Given the description of an element on the screen output the (x, y) to click on. 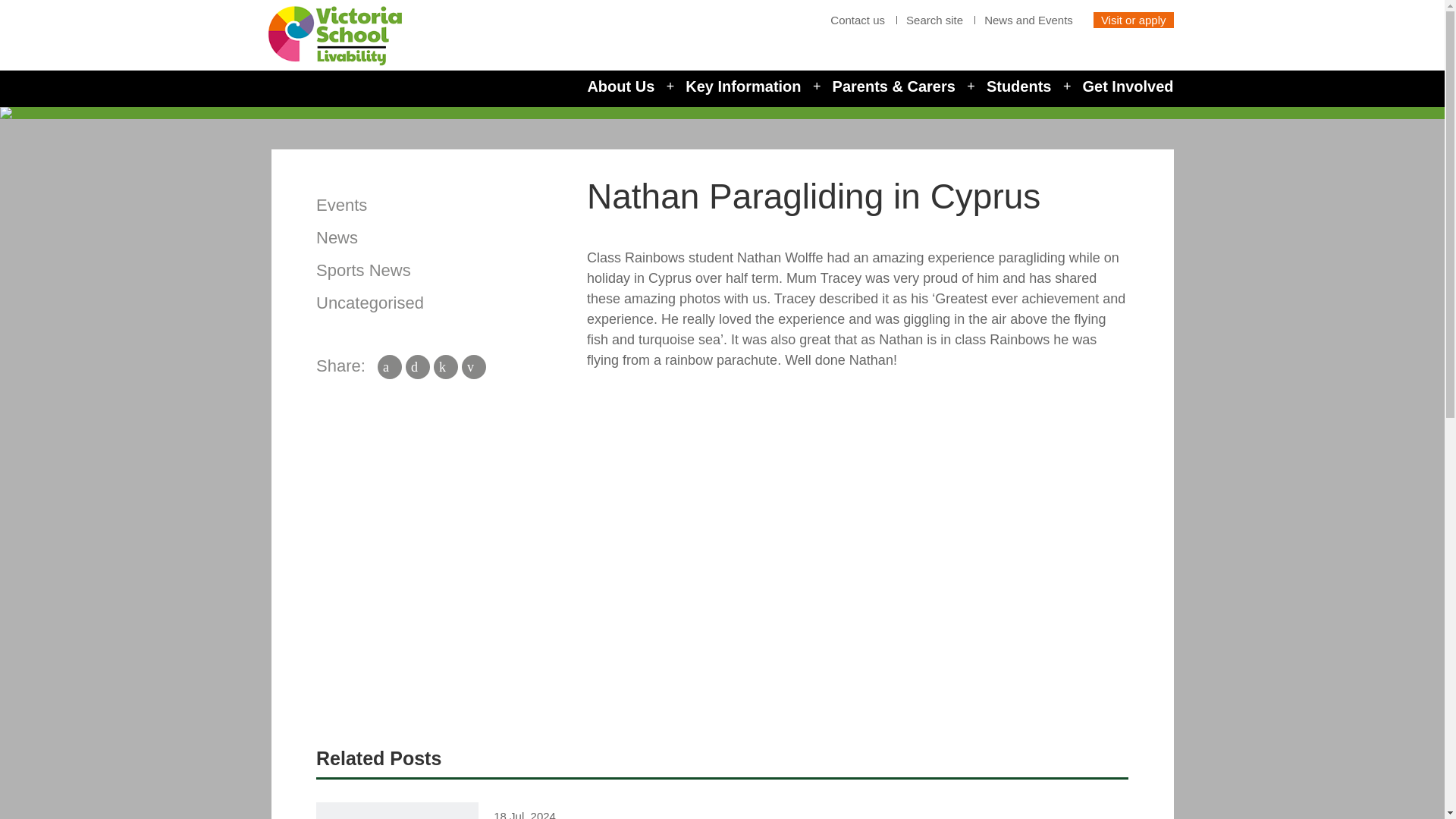
Contact us (857, 19)
News (336, 237)
Visit or apply (1133, 19)
Search site (933, 19)
News and Events (1028, 19)
Uncategorised (369, 302)
Students (1019, 86)
Sports News (362, 270)
About Us (619, 86)
Events (340, 204)
Key Information (742, 86)
Get Involved (1127, 86)
